Given the description of an element on the screen output the (x, y) to click on. 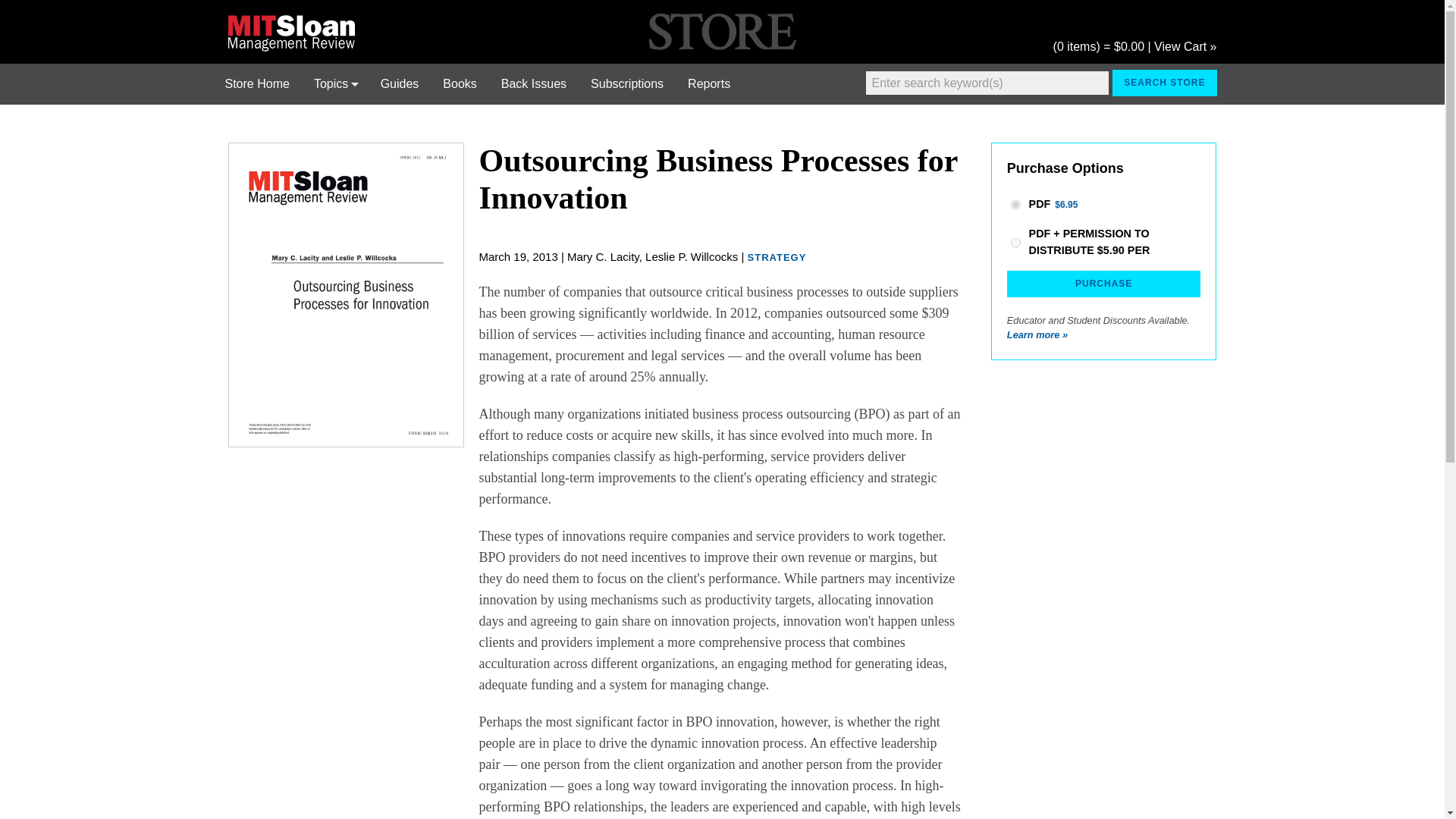
Guides (399, 83)
Subscriptions (626, 83)
SEARCH STORE (1163, 82)
Reports (708, 83)
Books (458, 83)
STRATEGY (777, 256)
Back Issues (533, 83)
PURCHASE (1104, 284)
Topics (334, 83)
54316P (1015, 204)
